Given the description of an element on the screen output the (x, y) to click on. 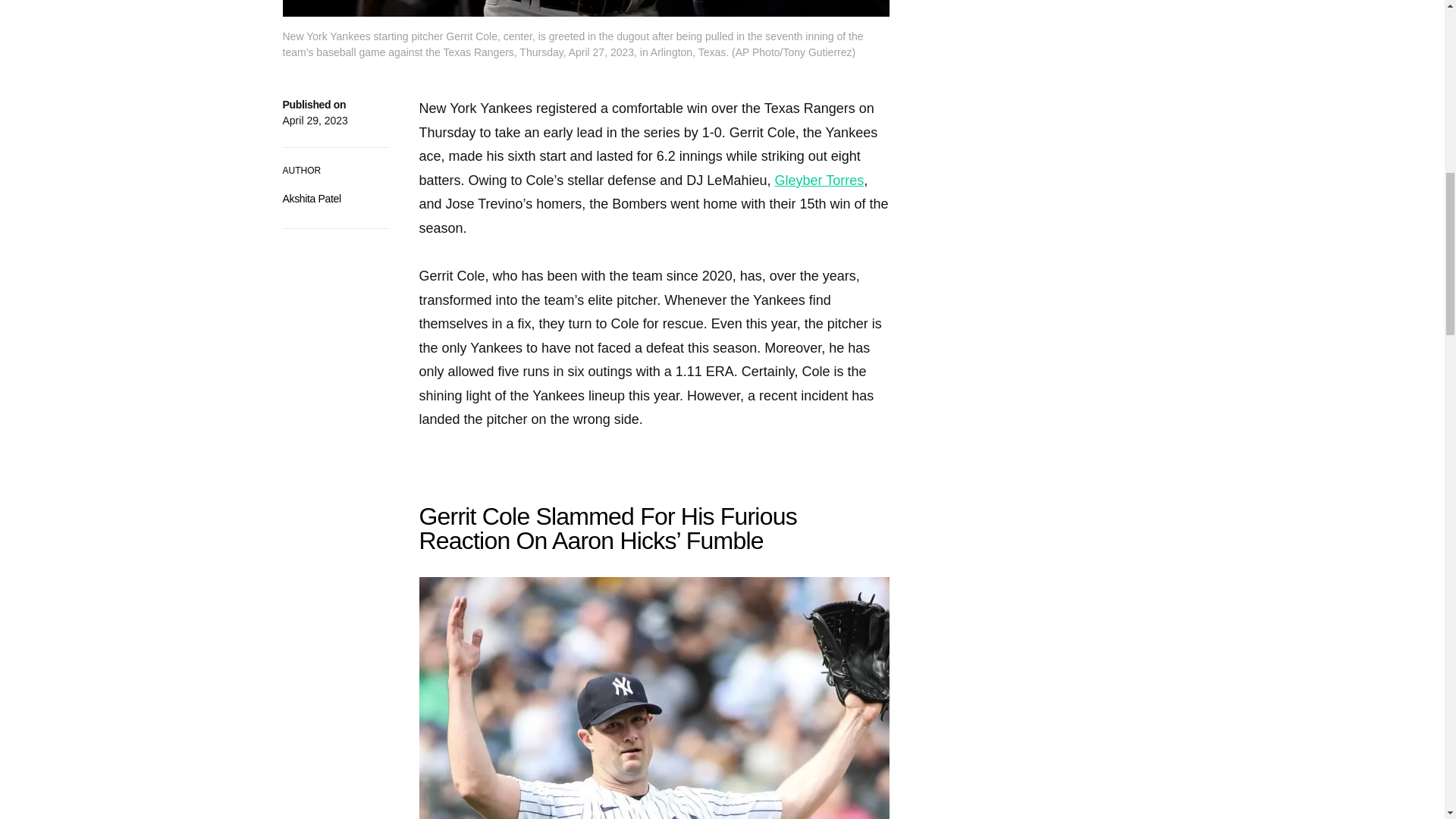
Akshita Patel (311, 198)
Gleyber Torres (818, 180)
